Given the description of an element on the screen output the (x, y) to click on. 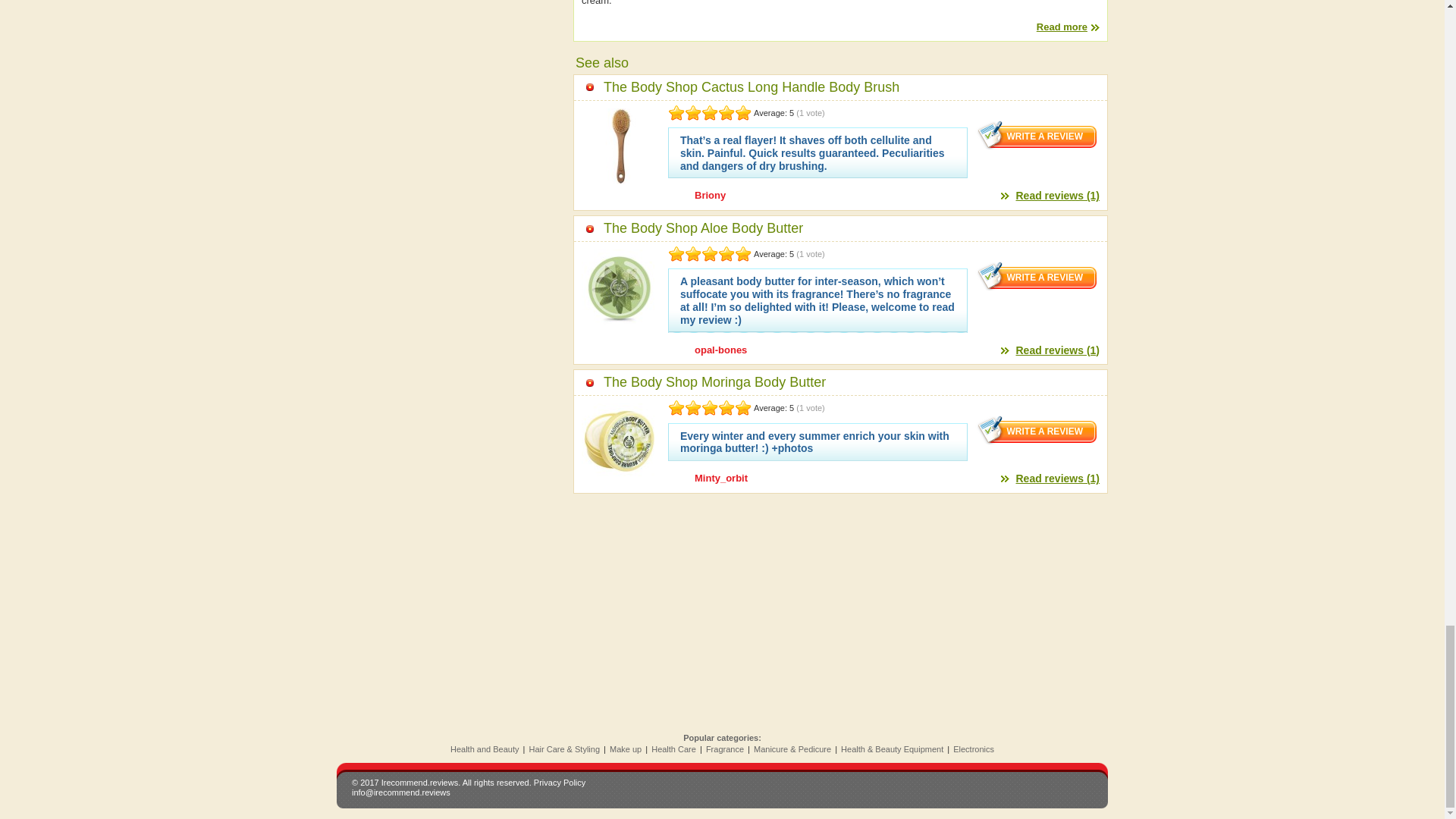
Write a review (1037, 134)
Write a review (1037, 429)
Write a review (1037, 275)
